Given the description of an element on the screen output the (x, y) to click on. 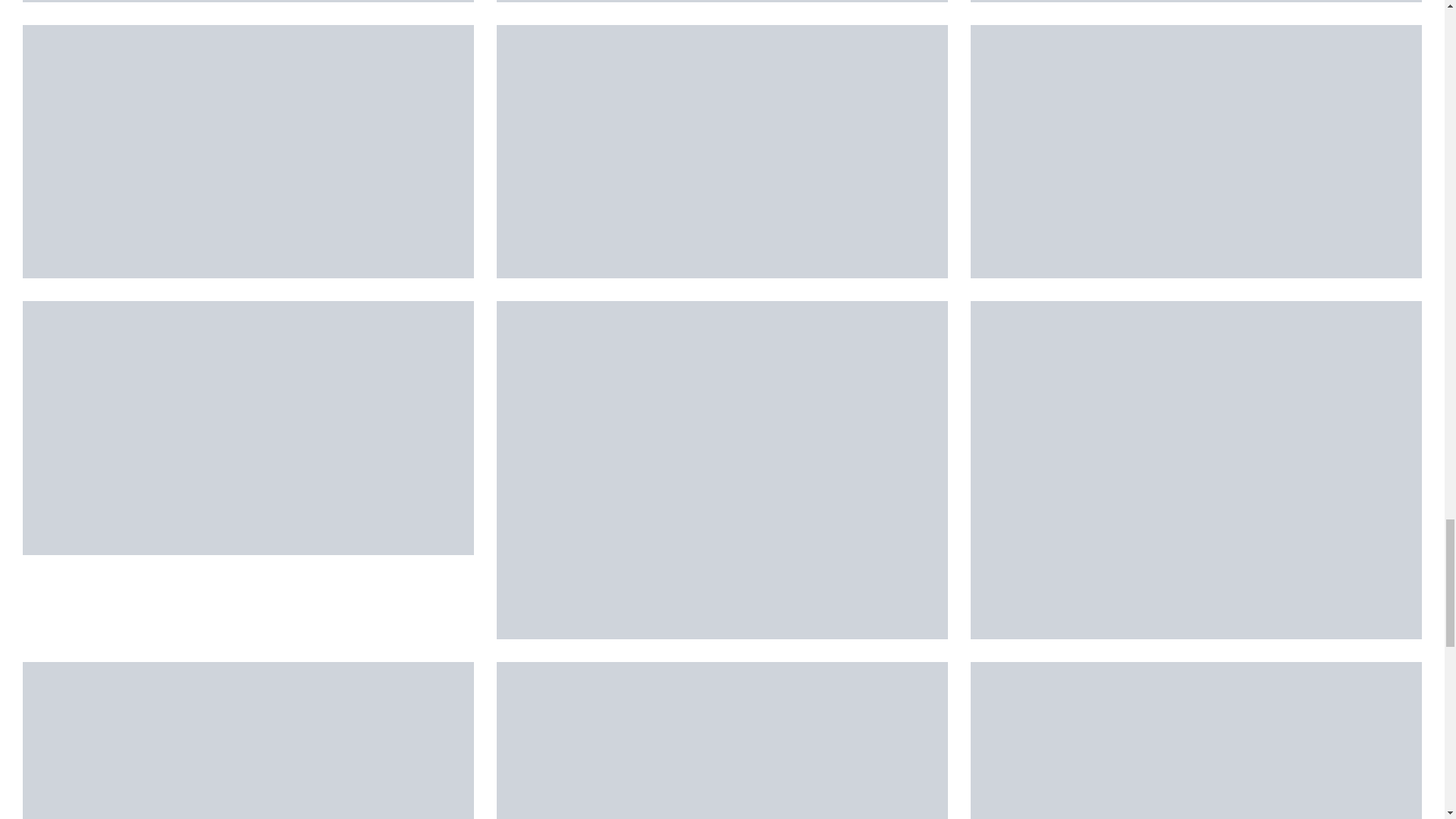
29TT57-lfgbpxeu04srz8s3w5p (248, 152)
